Given the description of an element on the screen output the (x, y) to click on. 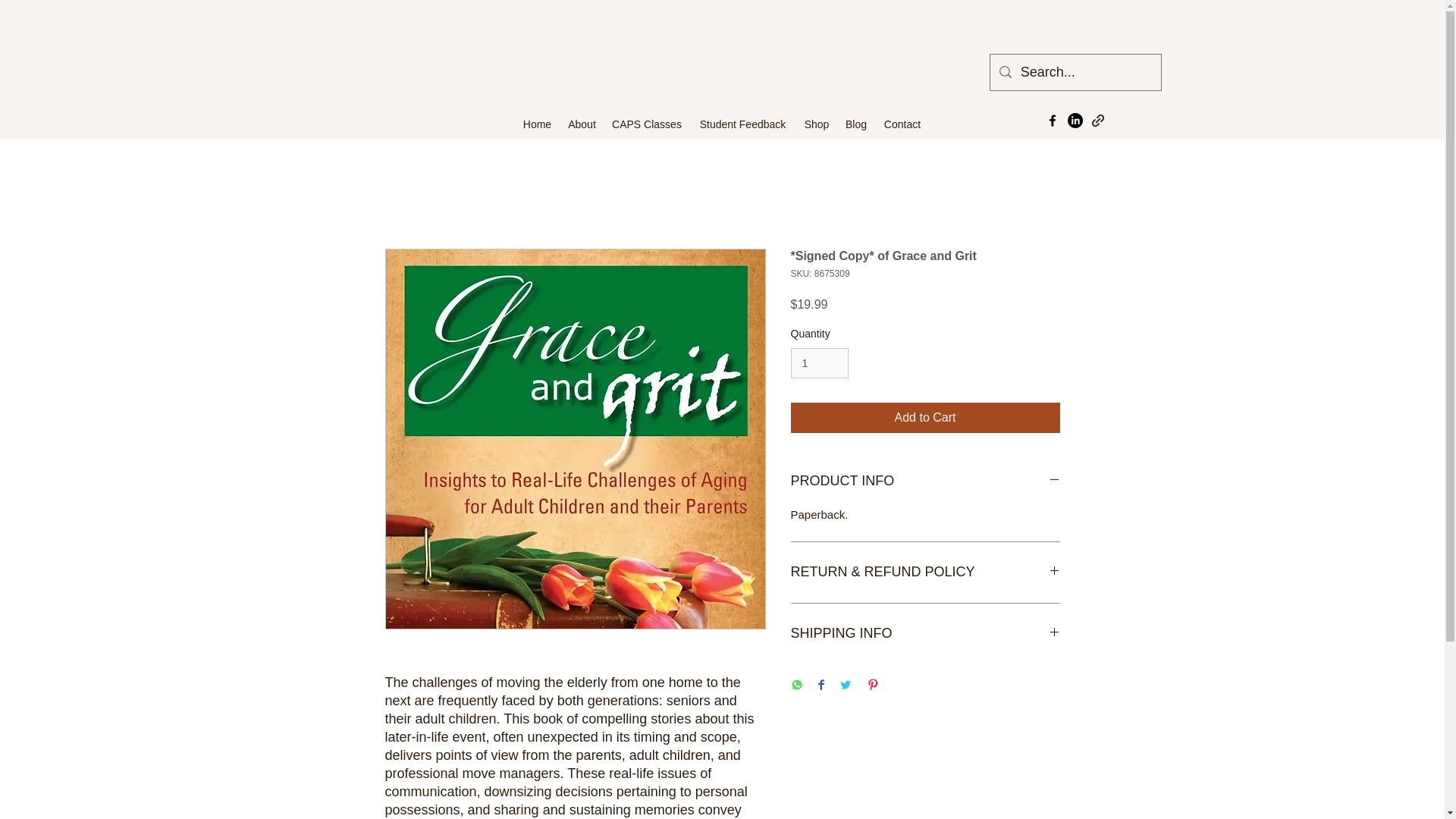
CAPS Classes (646, 124)
PRODUCT INFO (924, 481)
Shop (816, 124)
1 (818, 363)
Blog (856, 124)
Home (537, 124)
Student Feedback (742, 124)
Add to Cart (924, 417)
SHIPPING INFO (924, 633)
About (581, 124)
Contact (902, 124)
